Given the description of an element on the screen output the (x, y) to click on. 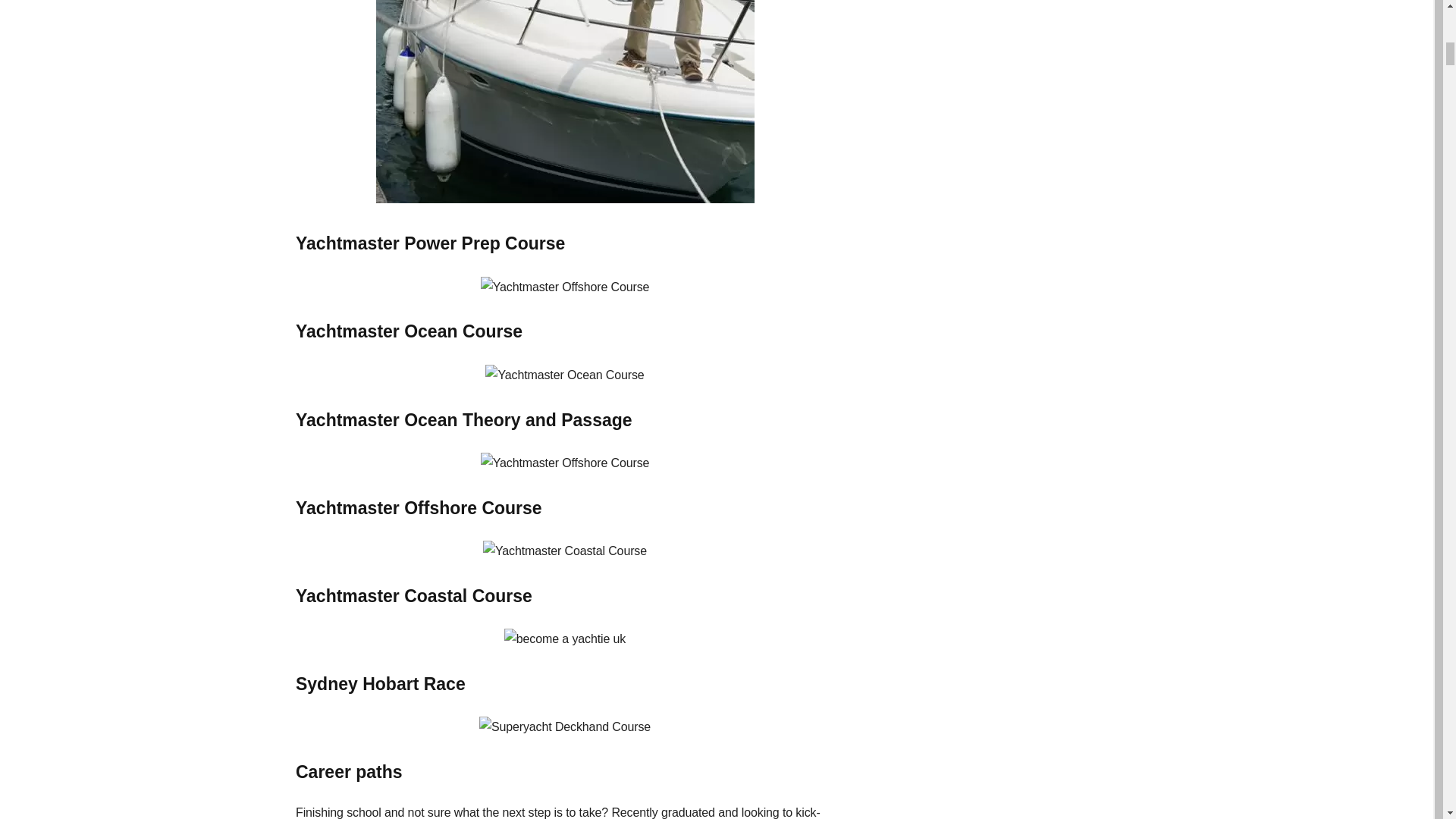
become a yachtie uk (564, 726)
become a yachtie uk (564, 463)
become a yachtie uk (564, 101)
become a yachtie uk (564, 550)
become a yachtie uk (564, 287)
become a yachtie uk (563, 374)
become a yachtie uk (564, 639)
